Given the description of an element on the screen output the (x, y) to click on. 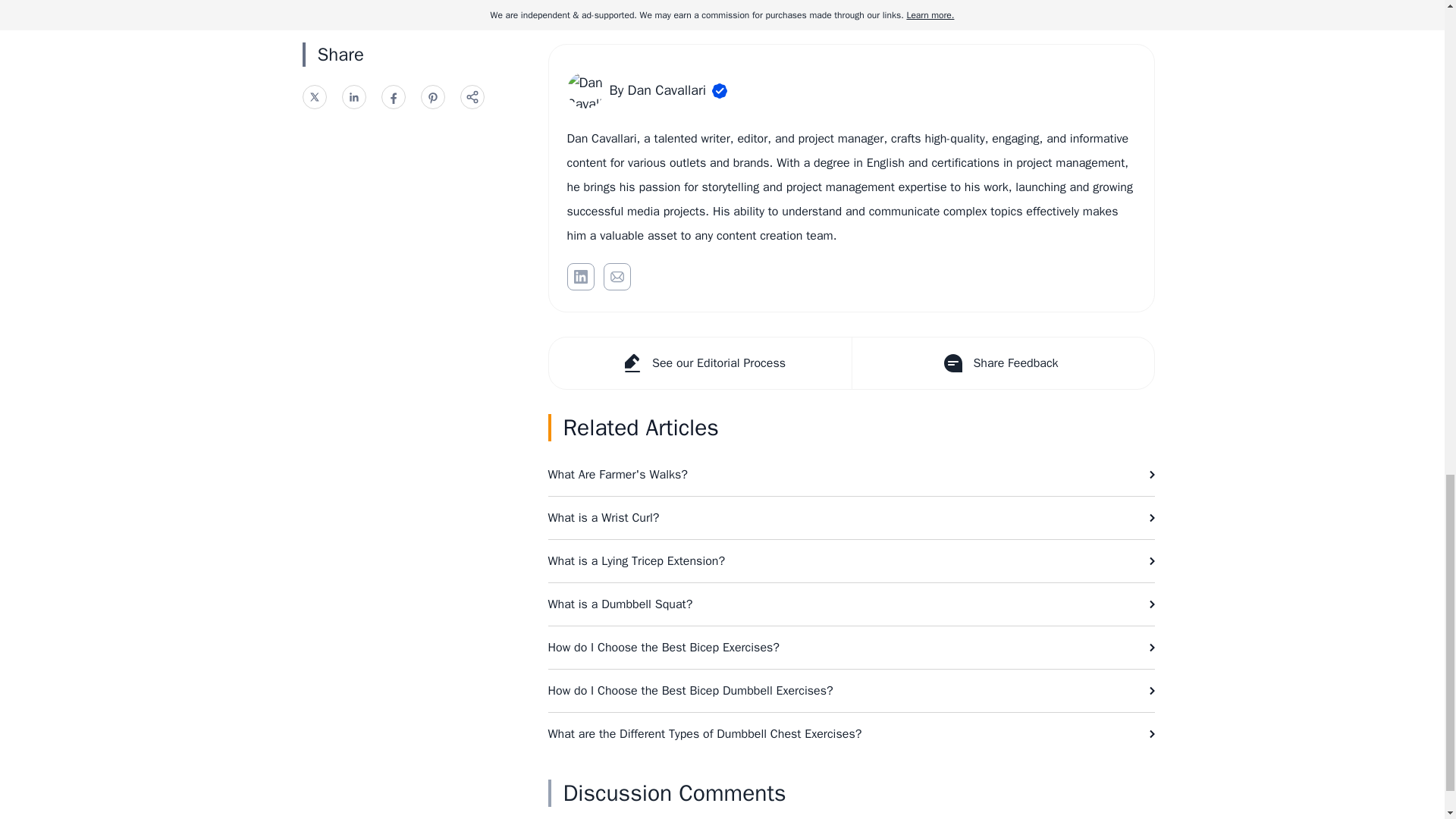
How do I Choose the Best Bicep Exercises? (850, 647)
What is a Wrist Curl? (850, 517)
What is a Lying Tricep Extension? (850, 560)
See our Editorial Process (699, 363)
How do I Choose the Best Bicep Dumbbell Exercises? (850, 690)
What is a Dumbbell Squat? (850, 604)
What Are Farmer's Walks? (850, 474)
Share Feedback (1001, 363)
What are the Different Types of Dumbbell Chest Exercises? (850, 733)
